Given the description of an element on the screen output the (x, y) to click on. 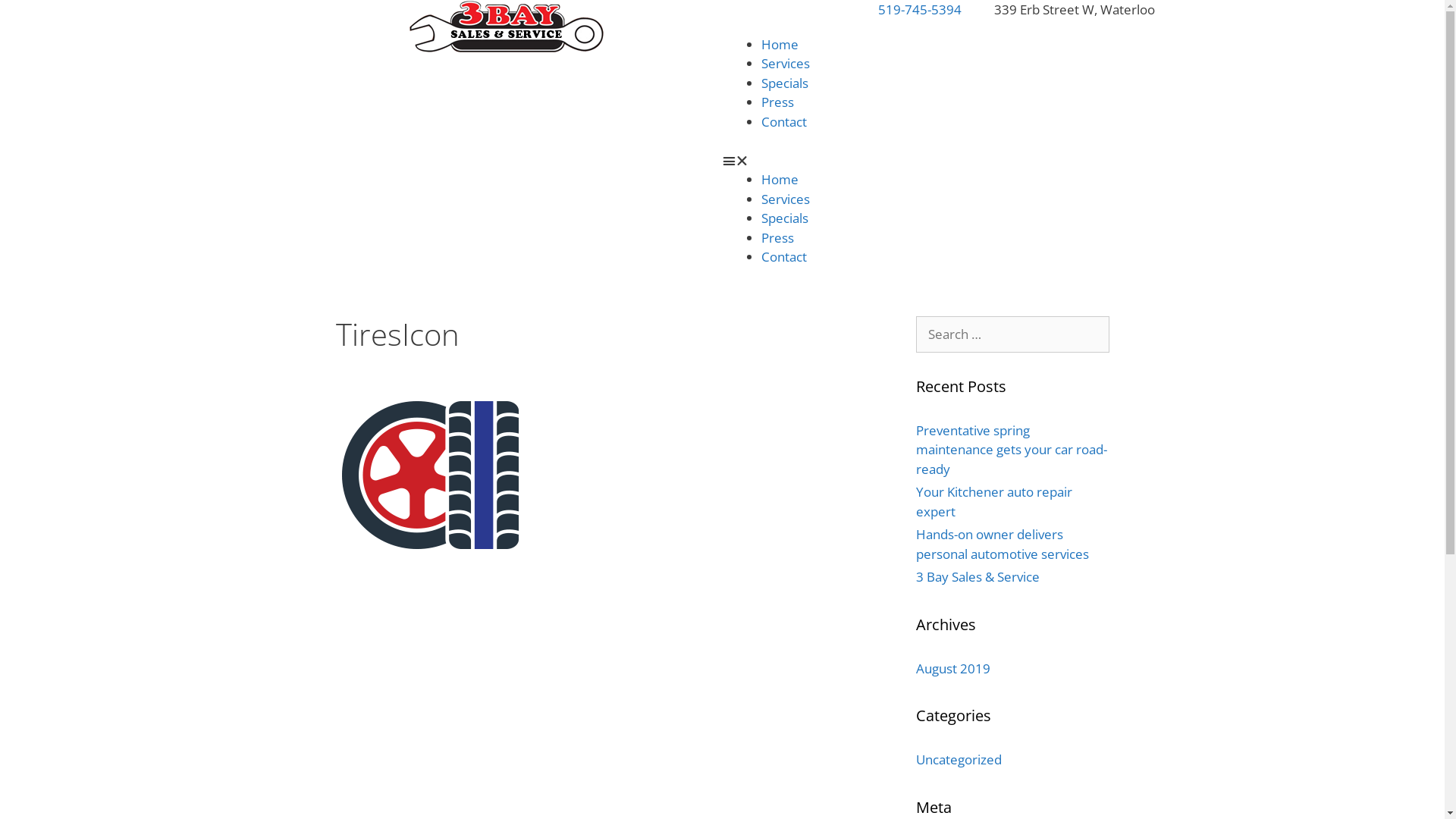
3 Bay Sales & Service Element type: text (977, 576)
519-745-5394 Element type: text (909, 9)
Search Element type: text (36, 18)
Press Element type: text (777, 101)
August 2019 Element type: text (953, 668)
Specials Element type: text (784, 217)
Services Element type: text (785, 198)
Contact Element type: text (783, 120)
Search for: Element type: hover (1012, 334)
Services Element type: text (785, 63)
Preventative spring maintenance gets your car road-ready Element type: text (1011, 449)
Press Element type: text (777, 237)
Hands-on owner delivers personal automotive services Element type: text (1002, 543)
Contact Element type: text (783, 256)
Specials Element type: text (784, 82)
Your Kitchener auto repair expert Element type: text (994, 501)
Uncategorized Element type: text (958, 759)
Home Element type: text (779, 43)
Home Element type: text (779, 179)
